Given the description of an element on the screen output the (x, y) to click on. 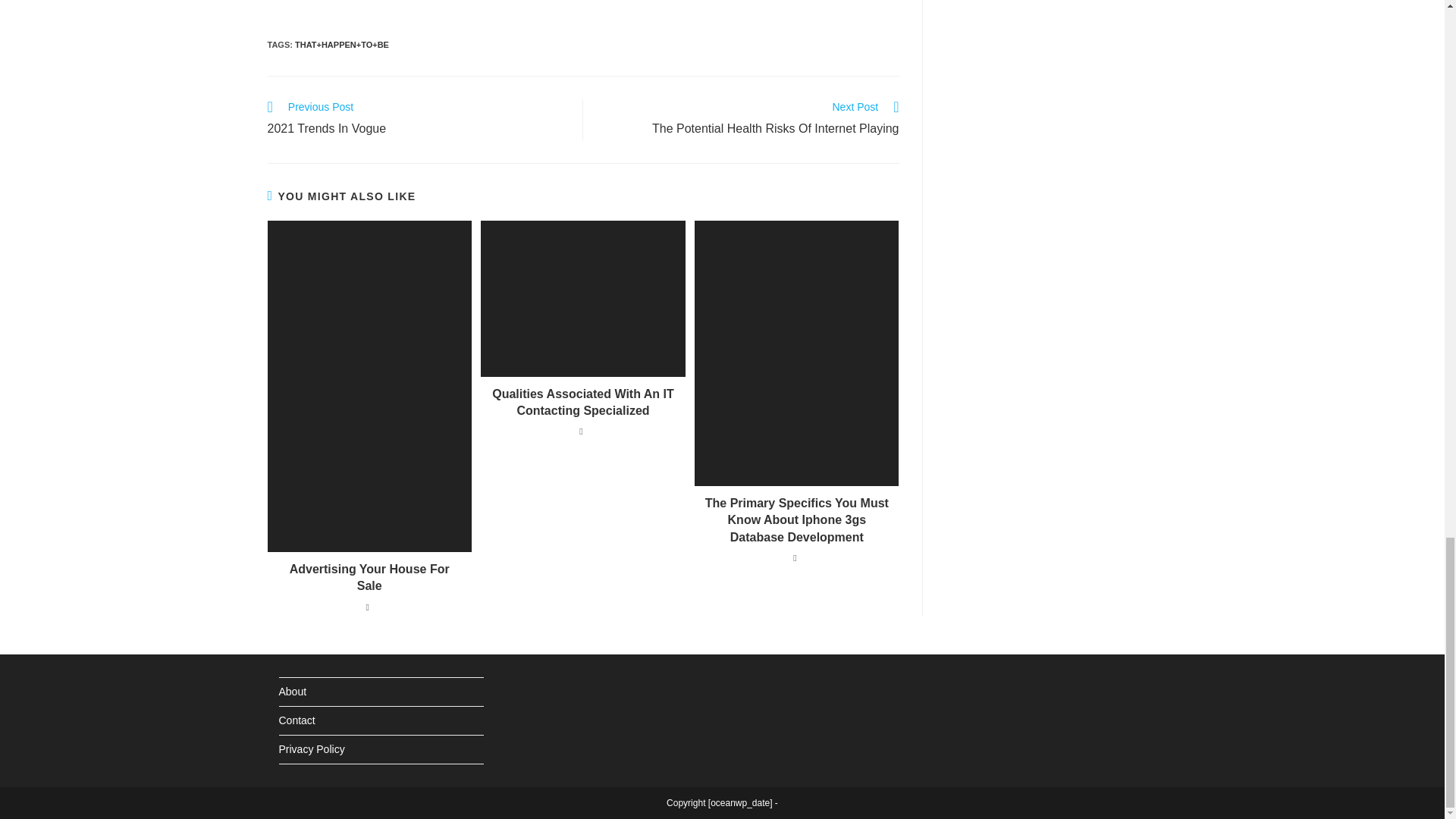
Advertising Your House For Sale (416, 119)
Qualities Associated With An IT Contacting Specialized (368, 578)
